Given the description of an element on the screen output the (x, y) to click on. 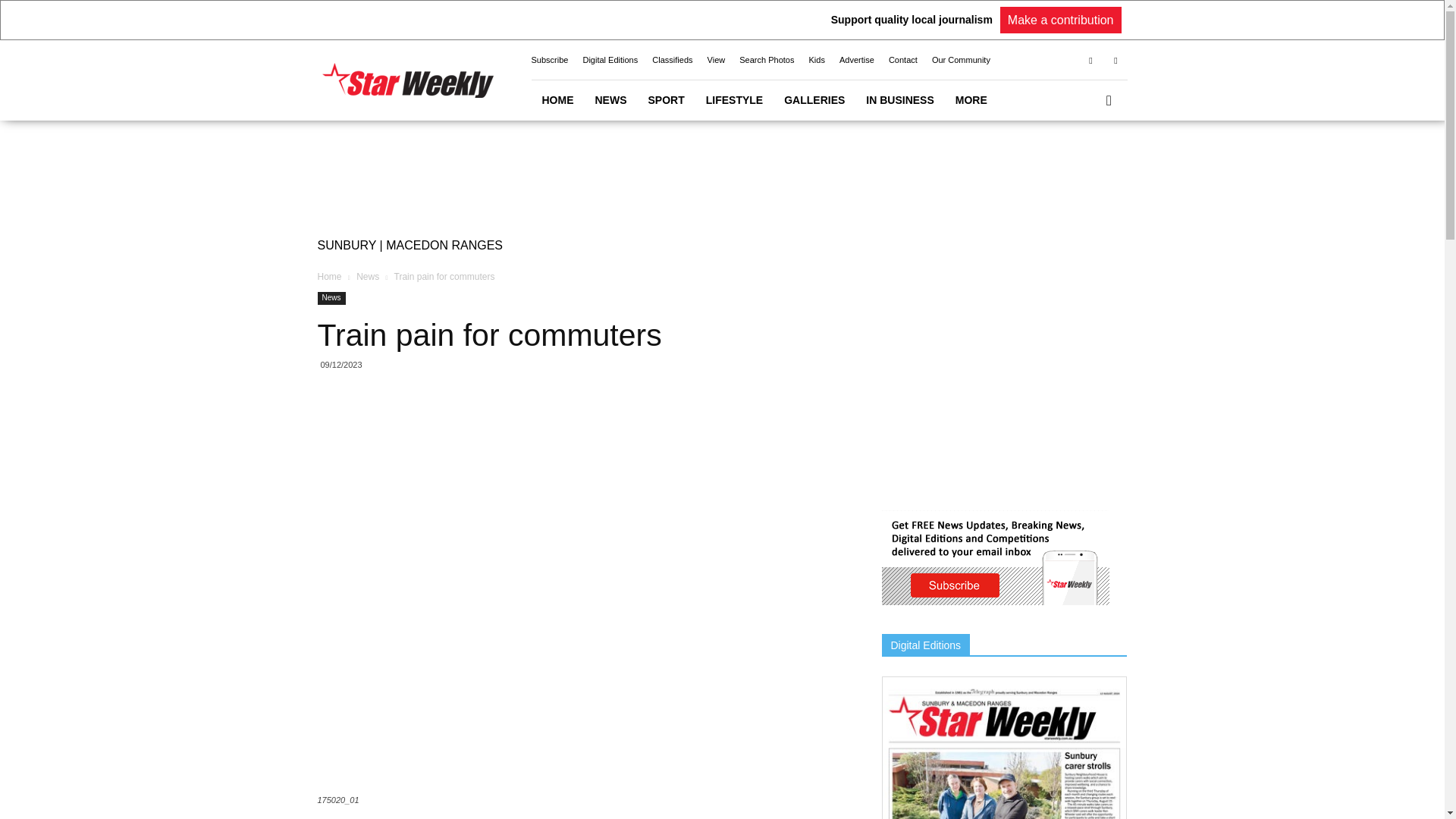
Search Photos (766, 59)
View all posts in News (367, 276)
Classifieds (672, 59)
Make a contribution (1060, 19)
Facebook (1090, 59)
Digital Editions (609, 59)
Twitter (1114, 59)
Contact (902, 59)
Subscribe (549, 59)
Advertise (857, 59)
